Given the description of an element on the screen output the (x, y) to click on. 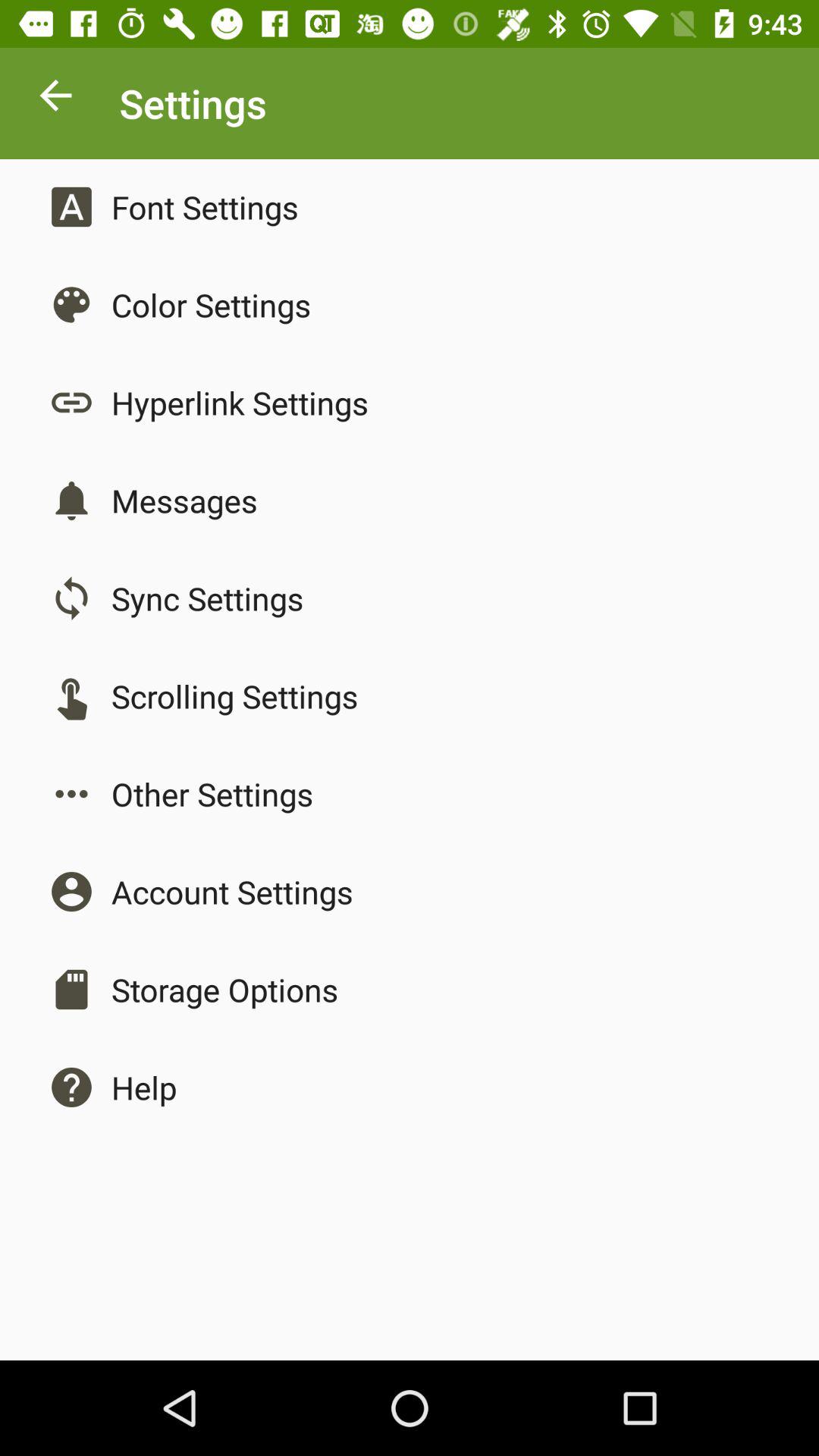
go to previous page (55, 99)
